Given the description of an element on the screen output the (x, y) to click on. 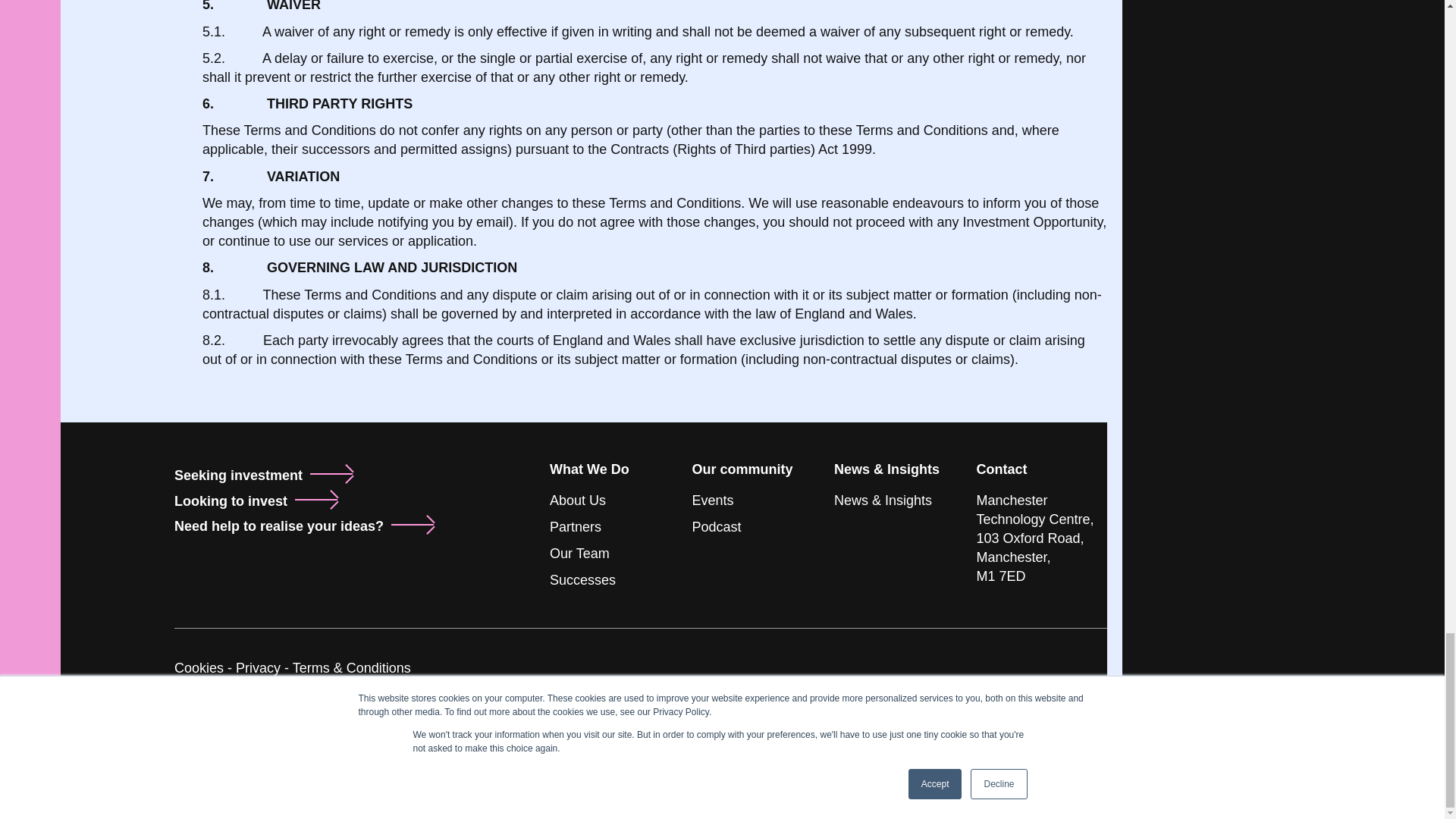
Our Team (580, 553)
About Us (577, 500)
Cookies (199, 667)
Seeking investment (238, 475)
Podcast (716, 526)
Looking to invest (230, 500)
Events (712, 500)
Successes (582, 580)
Partners (575, 526)
Need help to realise your ideas? (279, 525)
Privacy (258, 667)
